Given the description of an element on the screen output the (x, y) to click on. 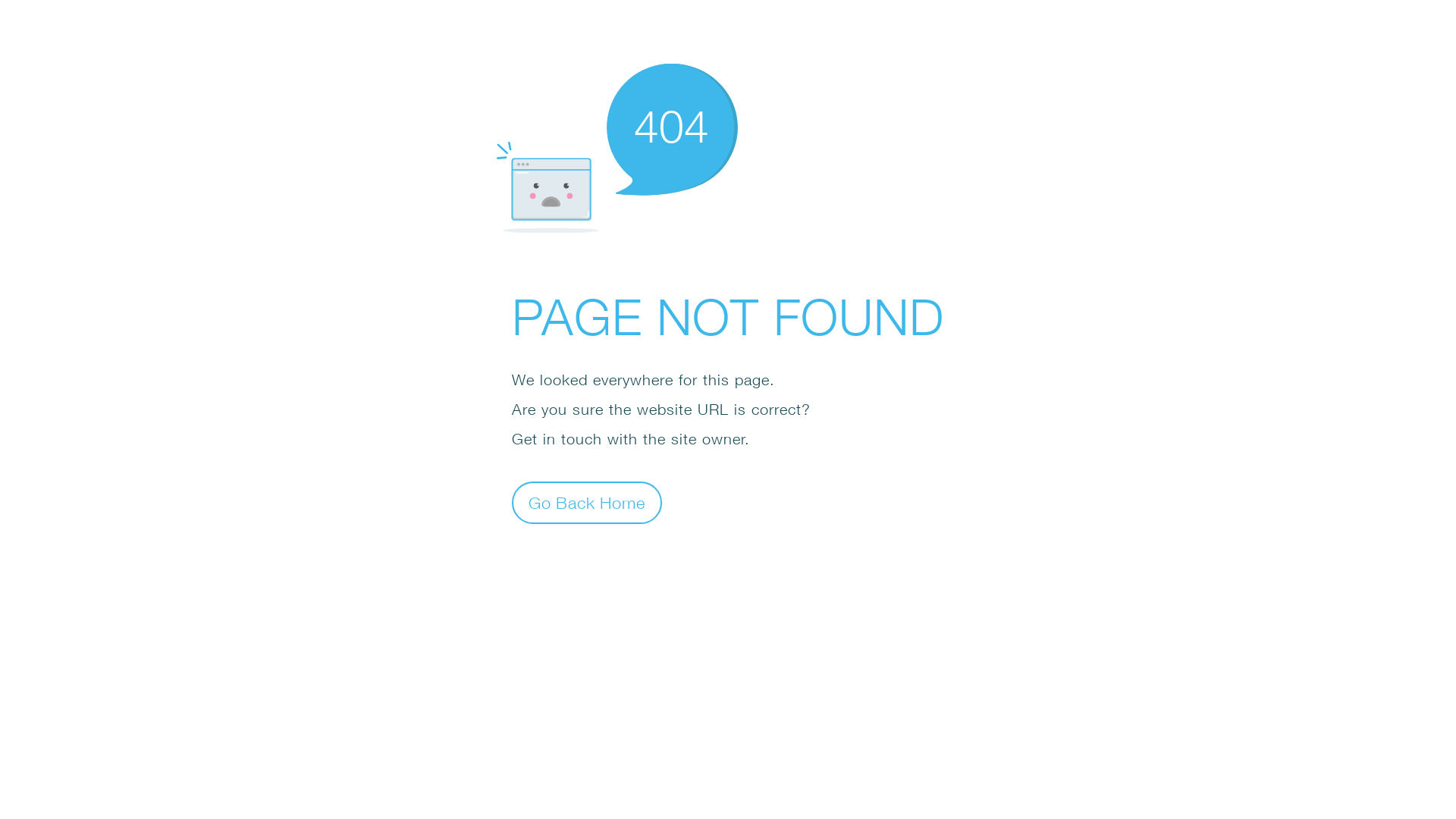
Go Back Home Element type: text (586, 502)
